Given the description of an element on the screen output the (x, y) to click on. 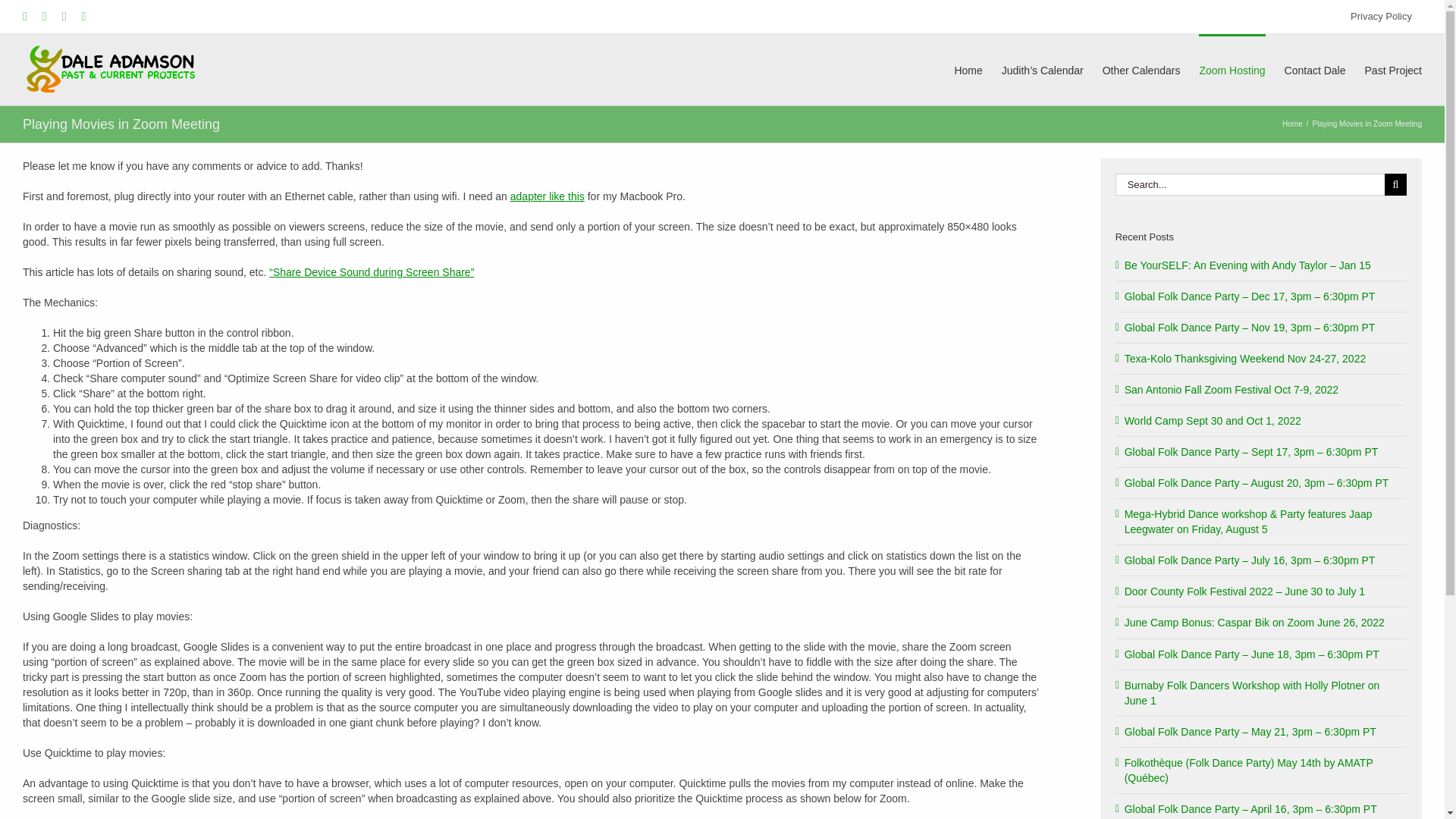
Privacy Policy (1381, 16)
San Antonio Fall Zoom Festival Oct 7-9, 2022 (1231, 389)
World Camp Sept 30 and Oct 1, 2022 (1212, 420)
Other Calendars (1141, 69)
Texa-Kolo Thanksgiving Weekend Nov 24-27, 2022 (1245, 358)
adapter like this (548, 196)
Home (1292, 123)
Zoom Hosting (1231, 69)
